Given the description of an element on the screen output the (x, y) to click on. 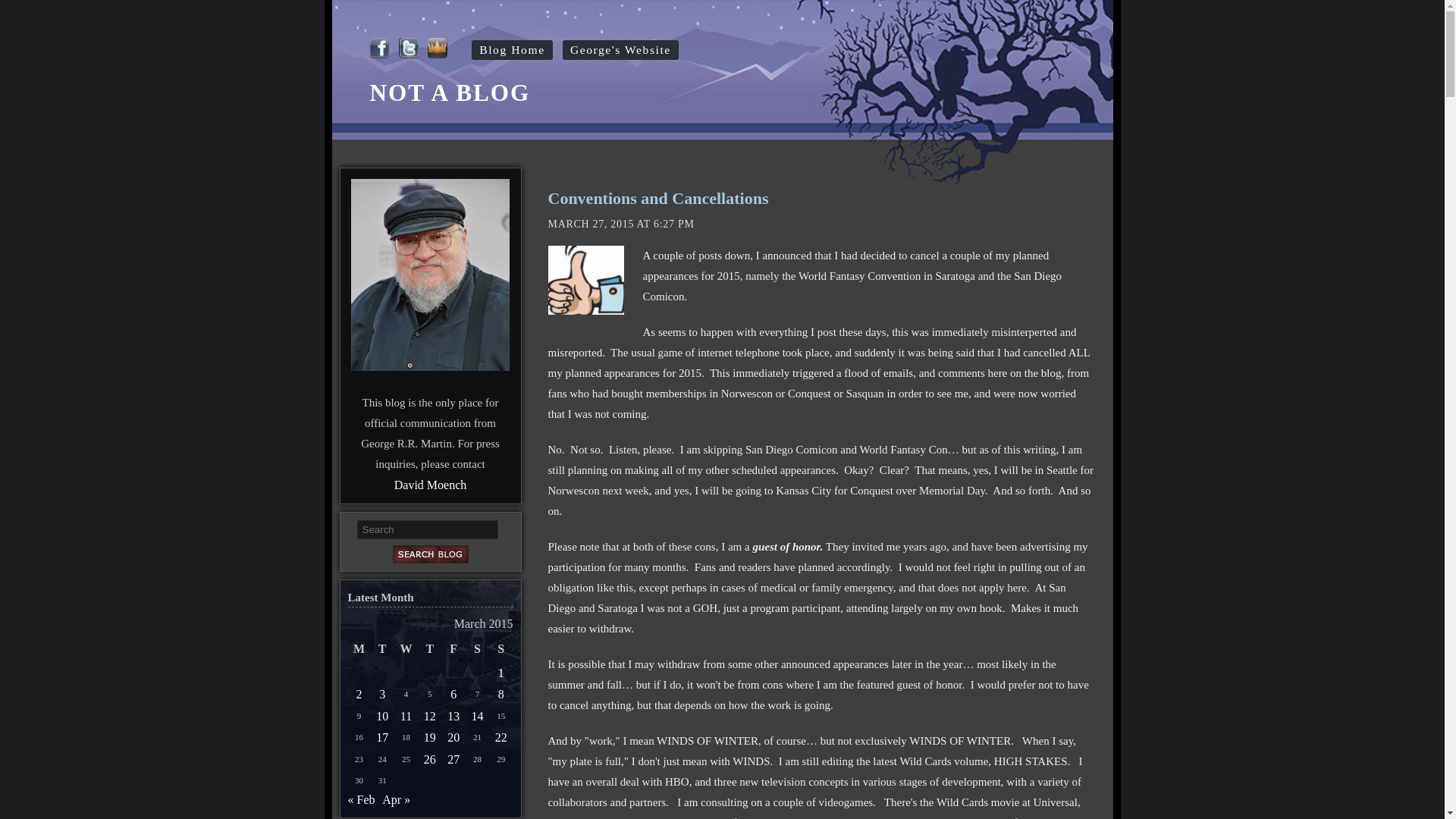
Tuesday (382, 649)
Monday (358, 649)
Wednesday (405, 649)
Blog Home (511, 49)
Thursday (429, 649)
Conventions and Cancellations (657, 198)
Search (426, 529)
Friday (452, 649)
George's Website (620, 49)
